Given the description of an element on the screen output the (x, y) to click on. 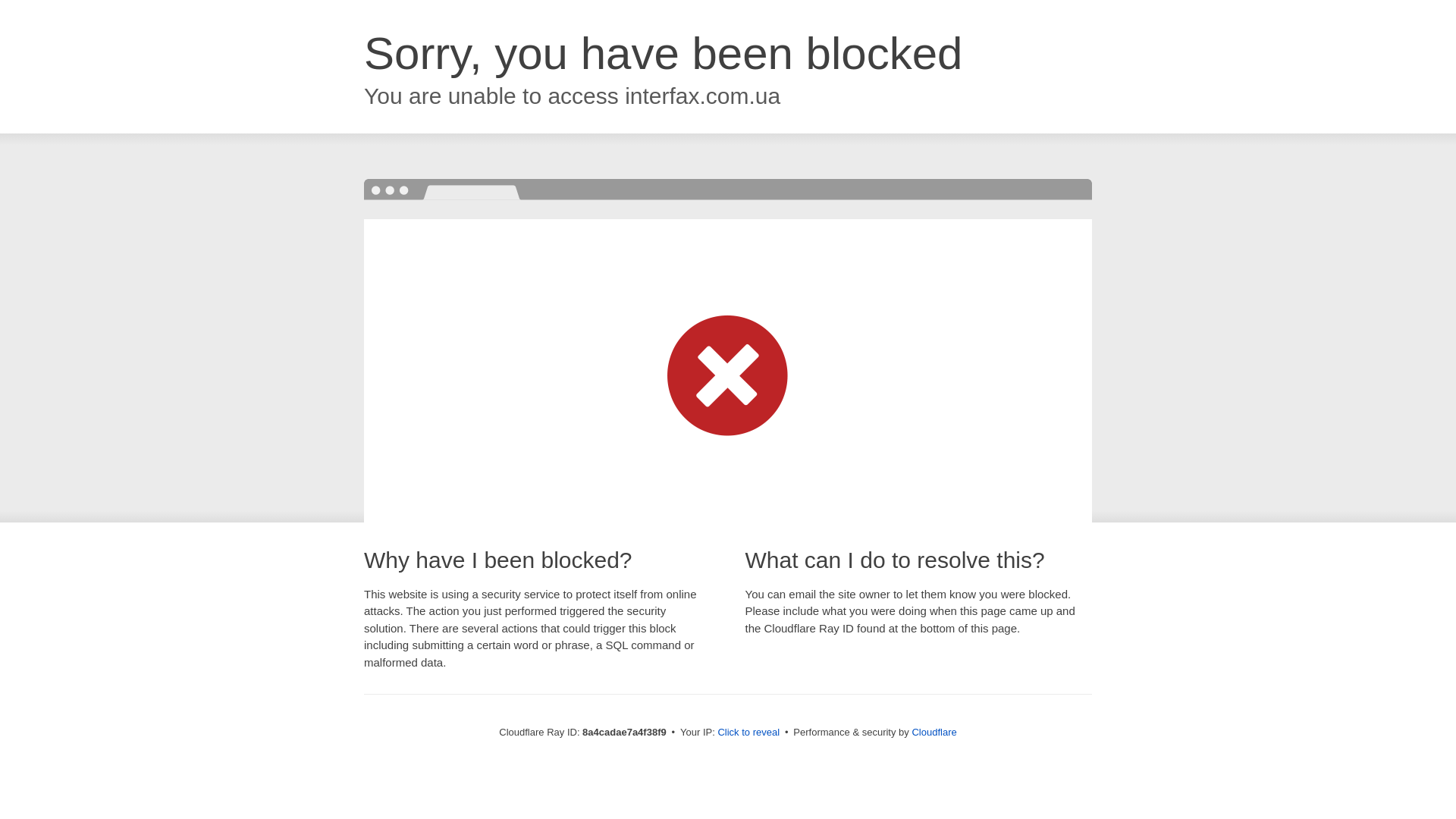
Cloudflare (933, 731)
Click to reveal (747, 732)
